Given the description of an element on the screen output the (x, y) to click on. 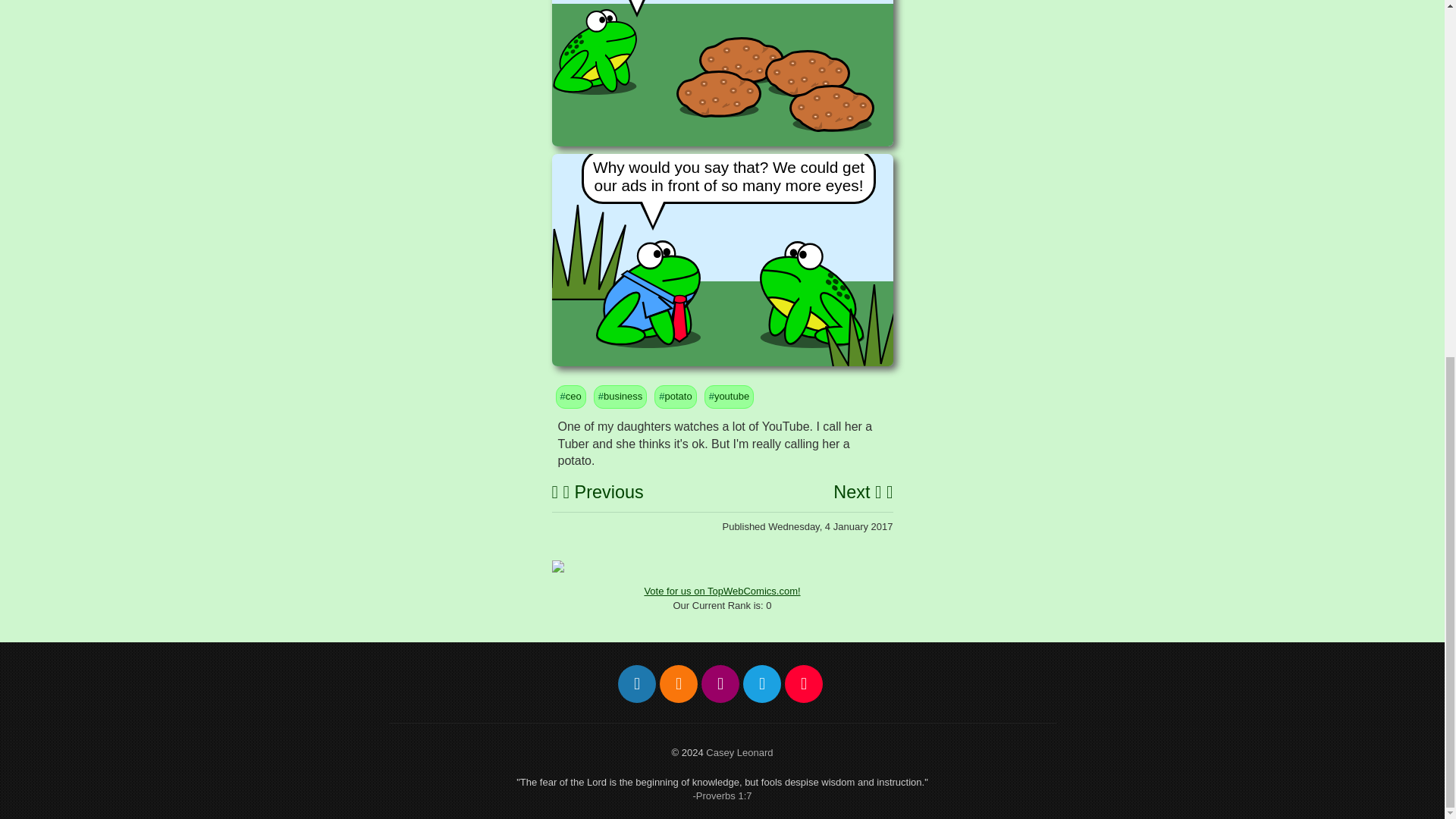
potato (677, 396)
Vote for us on TopWebComics.com! (721, 591)
business (623, 396)
-Proverbs 1:7 (722, 795)
youtube (731, 396)
ceo (573, 396)
Casey Leonard (739, 752)
Previous (603, 492)
Next (856, 492)
